Given the description of an element on the screen output the (x, y) to click on. 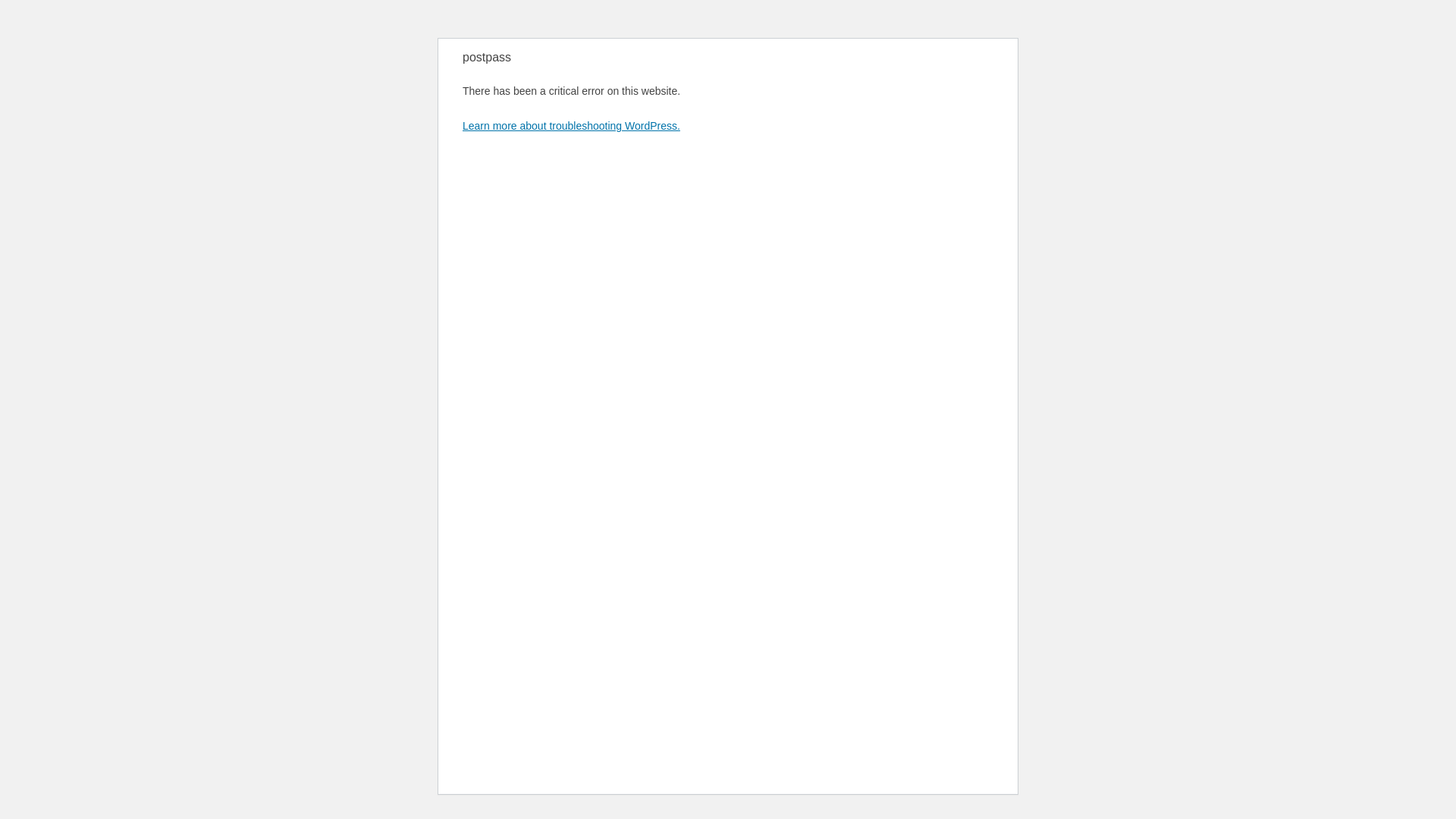
Learn more about troubleshooting WordPress. (571, 125)
